Given the description of an element on the screen output the (x, y) to click on. 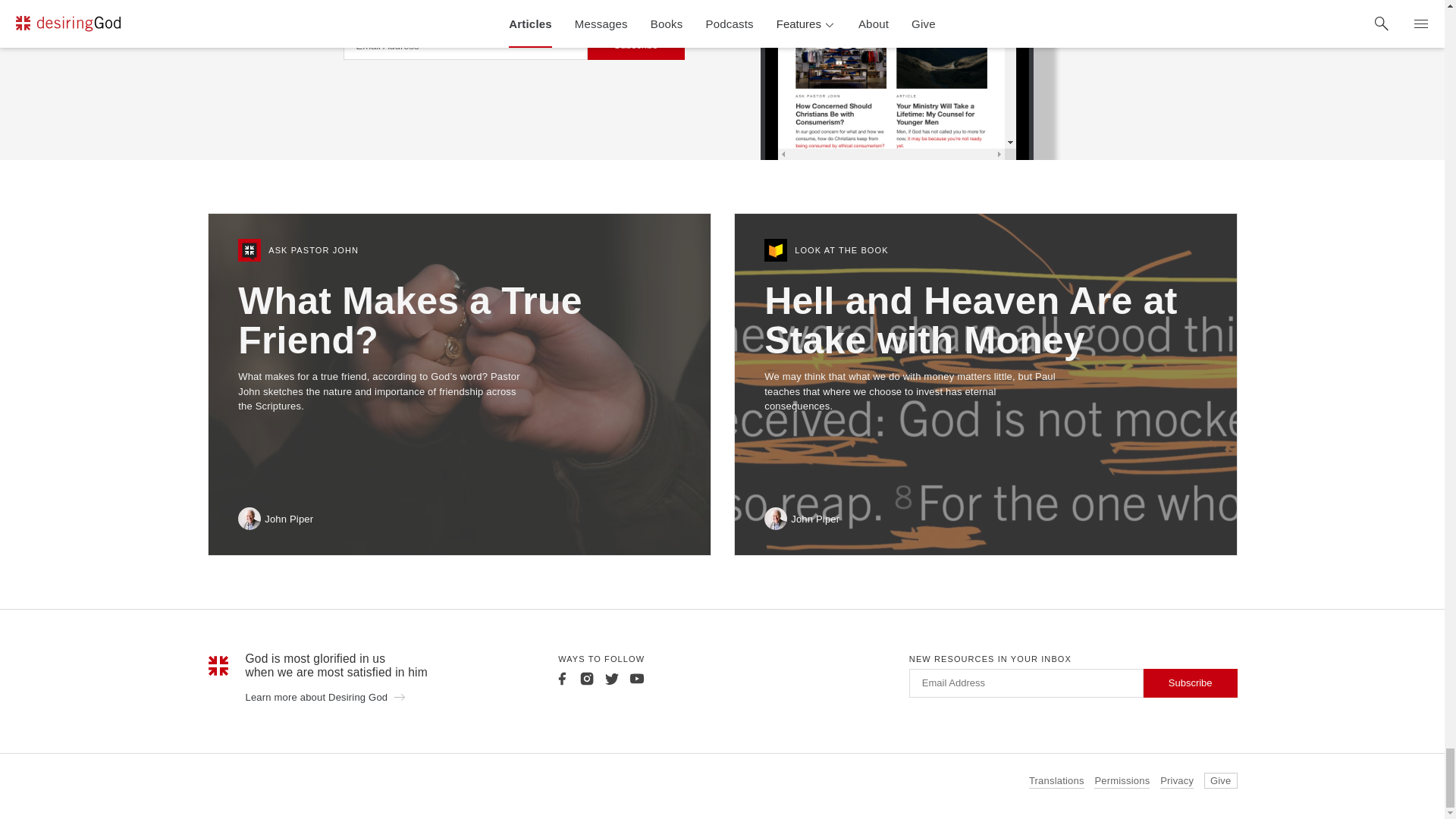
Arrow (399, 696)
Mark - Large (218, 665)
Twitter (612, 678)
